Given the description of an element on the screen output the (x, y) to click on. 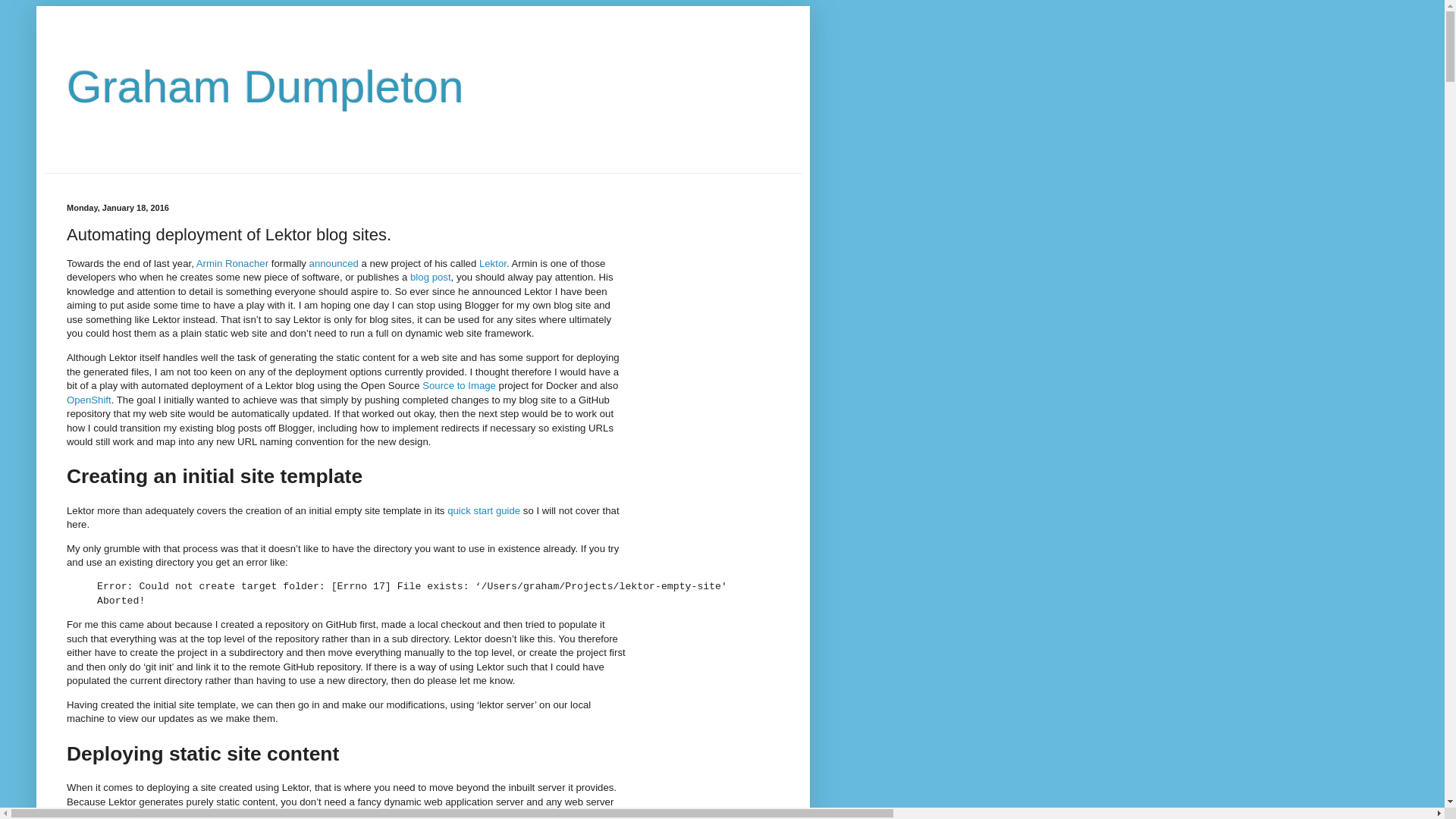
quick start guide Element type: text (483, 510)
blog post Element type: text (430, 276)
Graham Dumpleton Element type: text (265, 86)
Armin Ronacher Element type: text (232, 263)
announced Element type: text (333, 263)
Lektor Element type: text (492, 263)
OpenShift Element type: text (88, 399)
Source to Image Element type: text (458, 385)
